Given the description of an element on the screen output the (x, y) to click on. 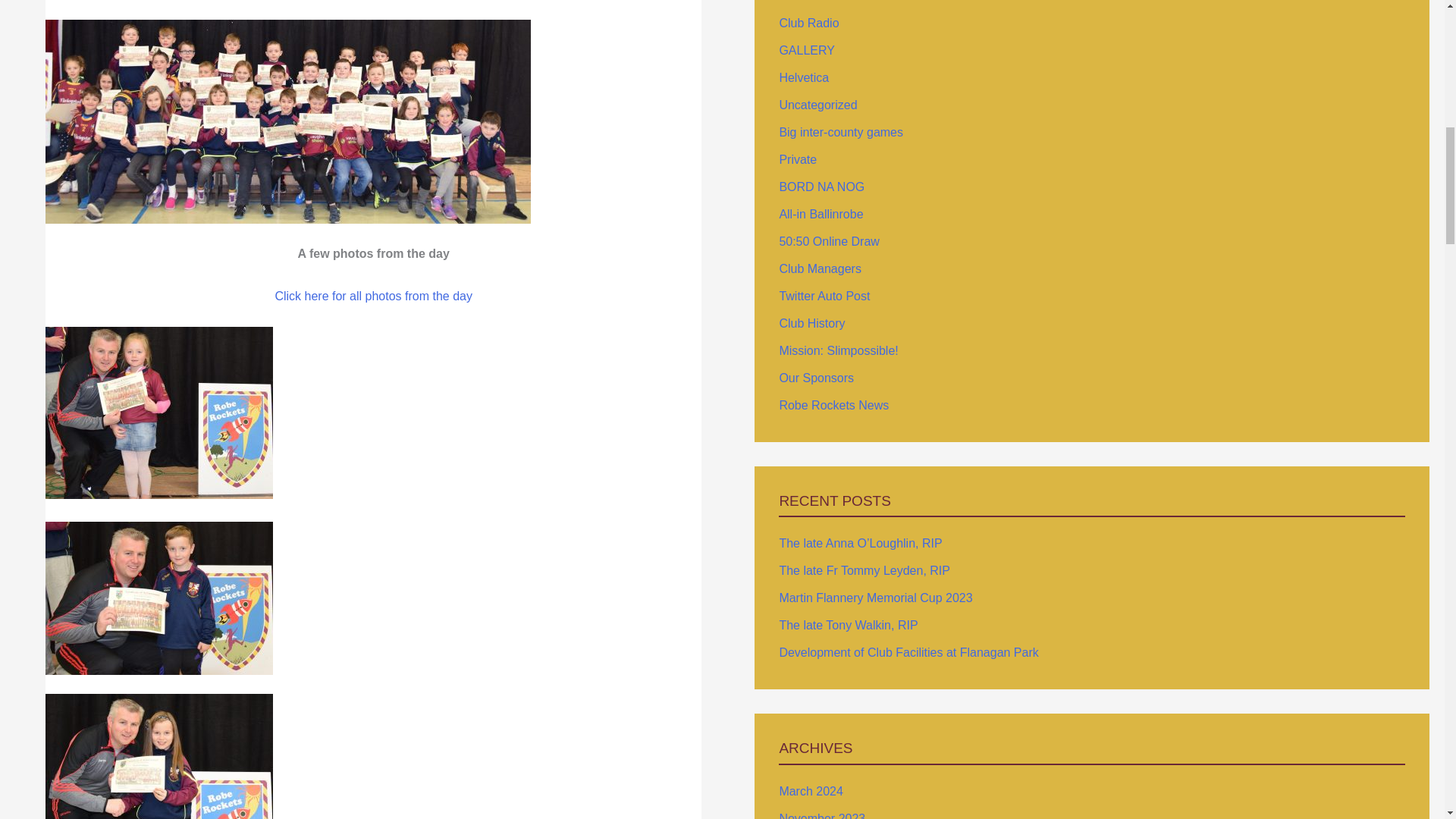
Click here for all photos from the day (373, 295)
